Given the description of an element on the screen output the (x, y) to click on. 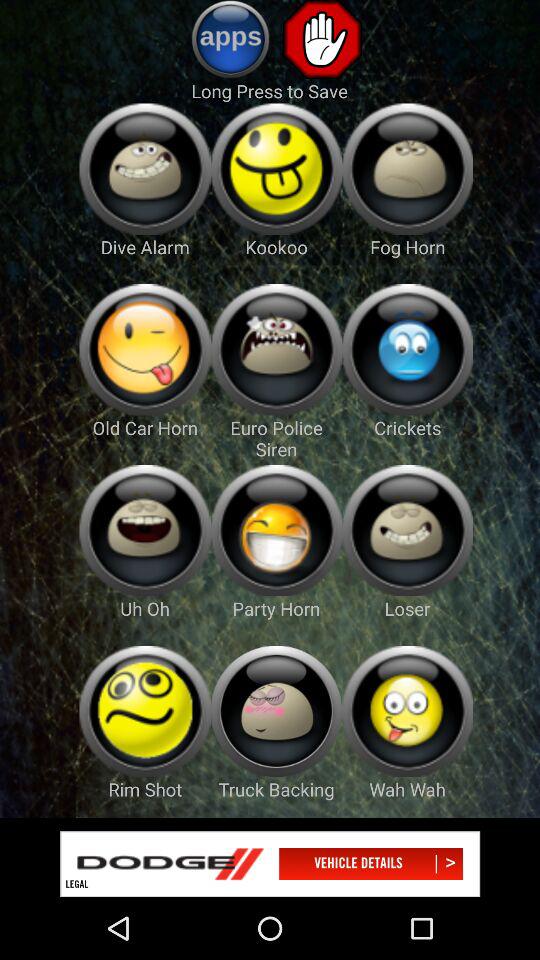
advertisement link (270, 864)
